Given the description of an element on the screen output the (x, y) to click on. 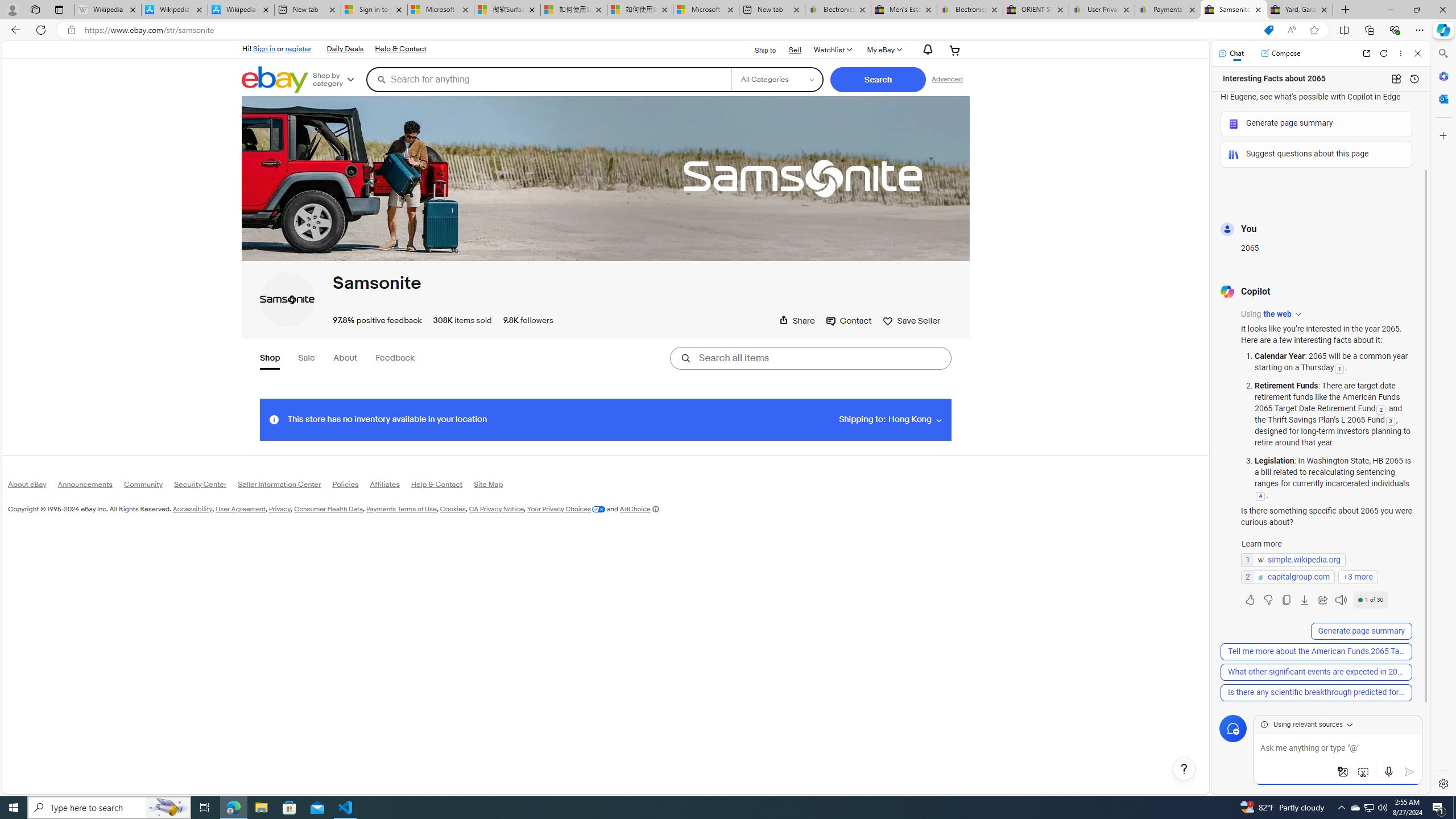
Daily Deals (344, 49)
Samsonite (376, 282)
Ship to (758, 49)
Sale (306, 358)
Samsonite (287, 298)
Community (148, 486)
